Given the description of an element on the screen output the (x, y) to click on. 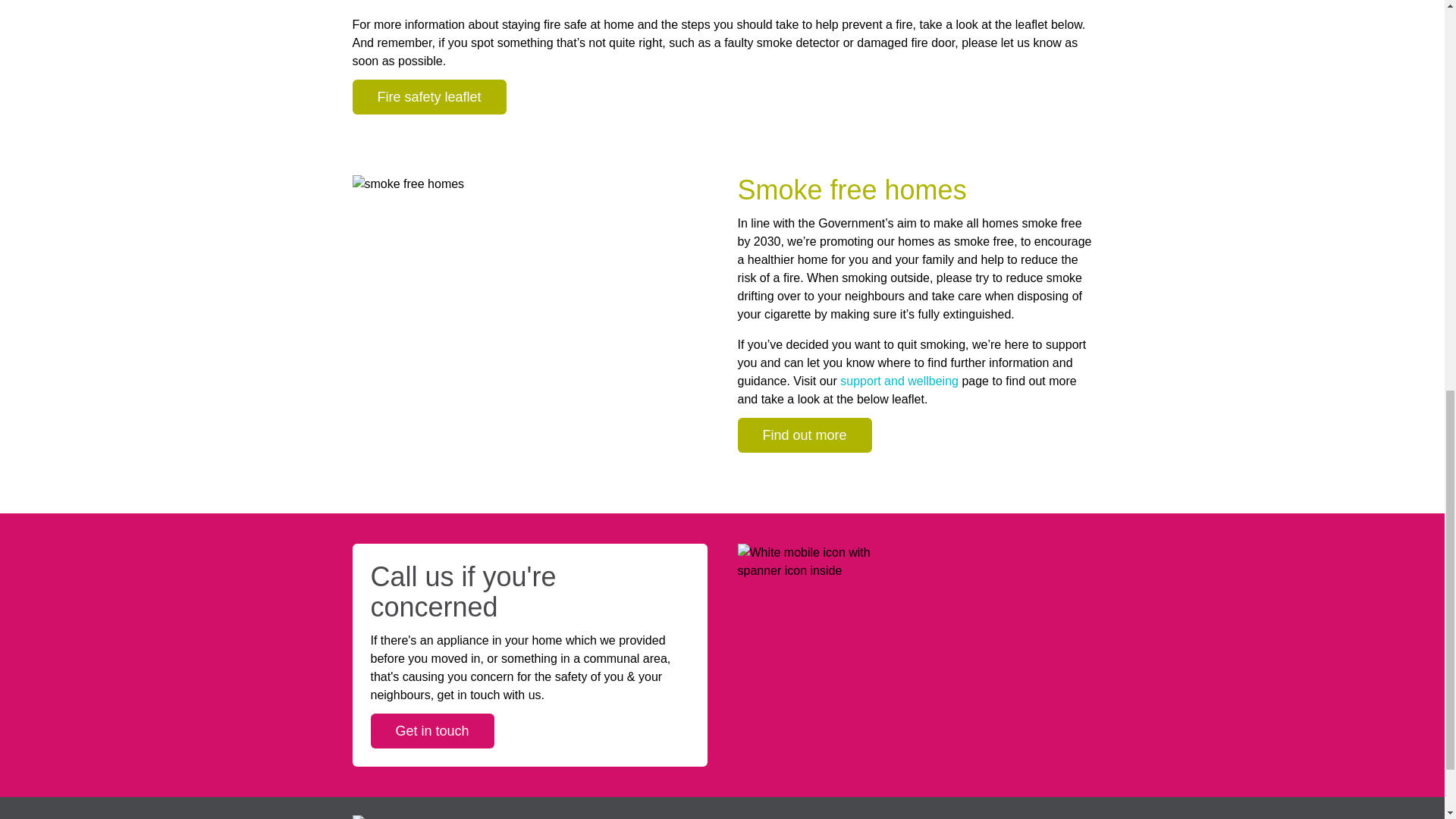
Support and wellbeing (900, 380)
